Given the description of an element on the screen output the (x, y) to click on. 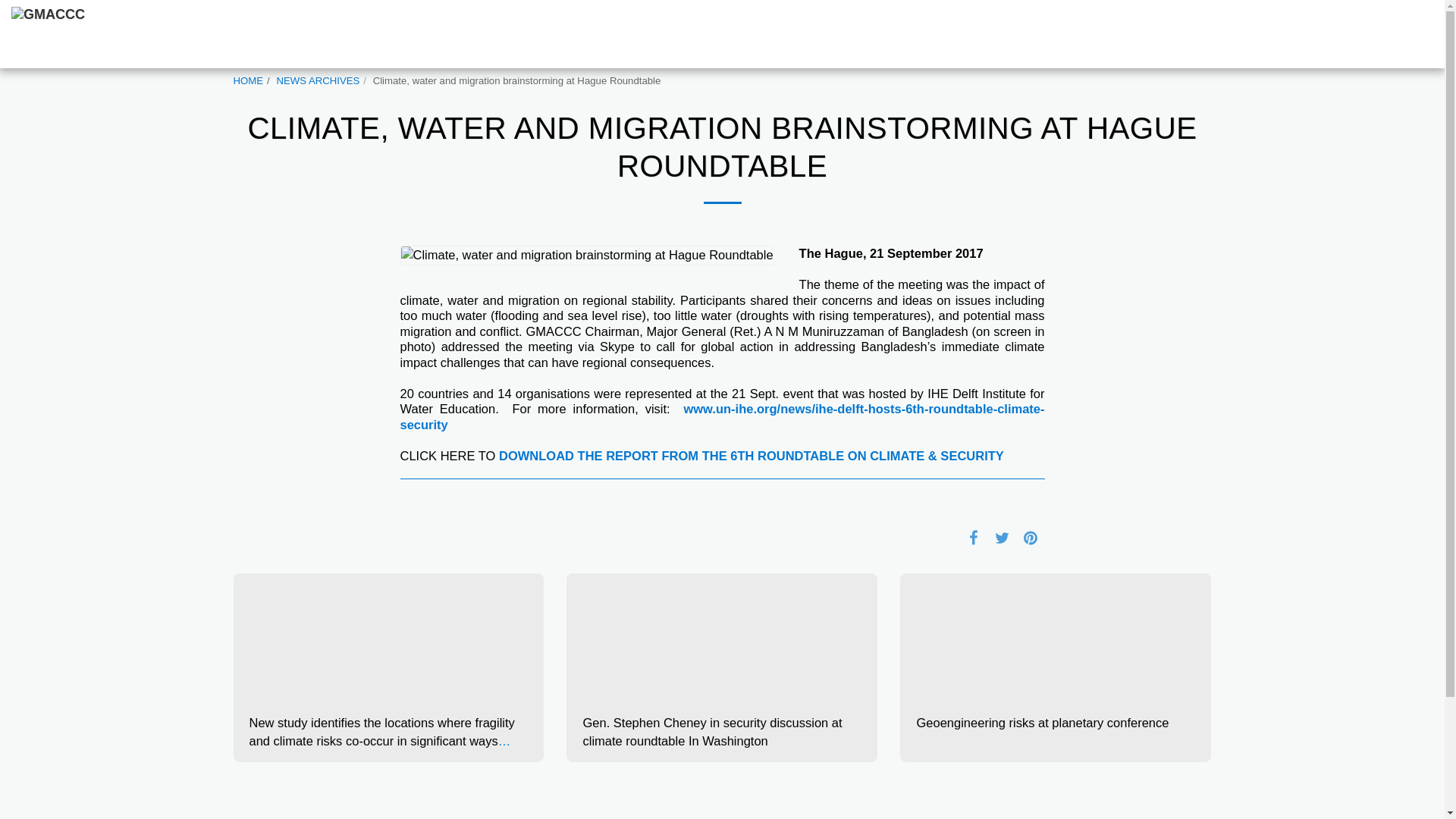
Pin it (1029, 537)
Share on Facebook (973, 537)
HOME (247, 80)
Tweet (1002, 537)
